Given the description of an element on the screen output the (x, y) to click on. 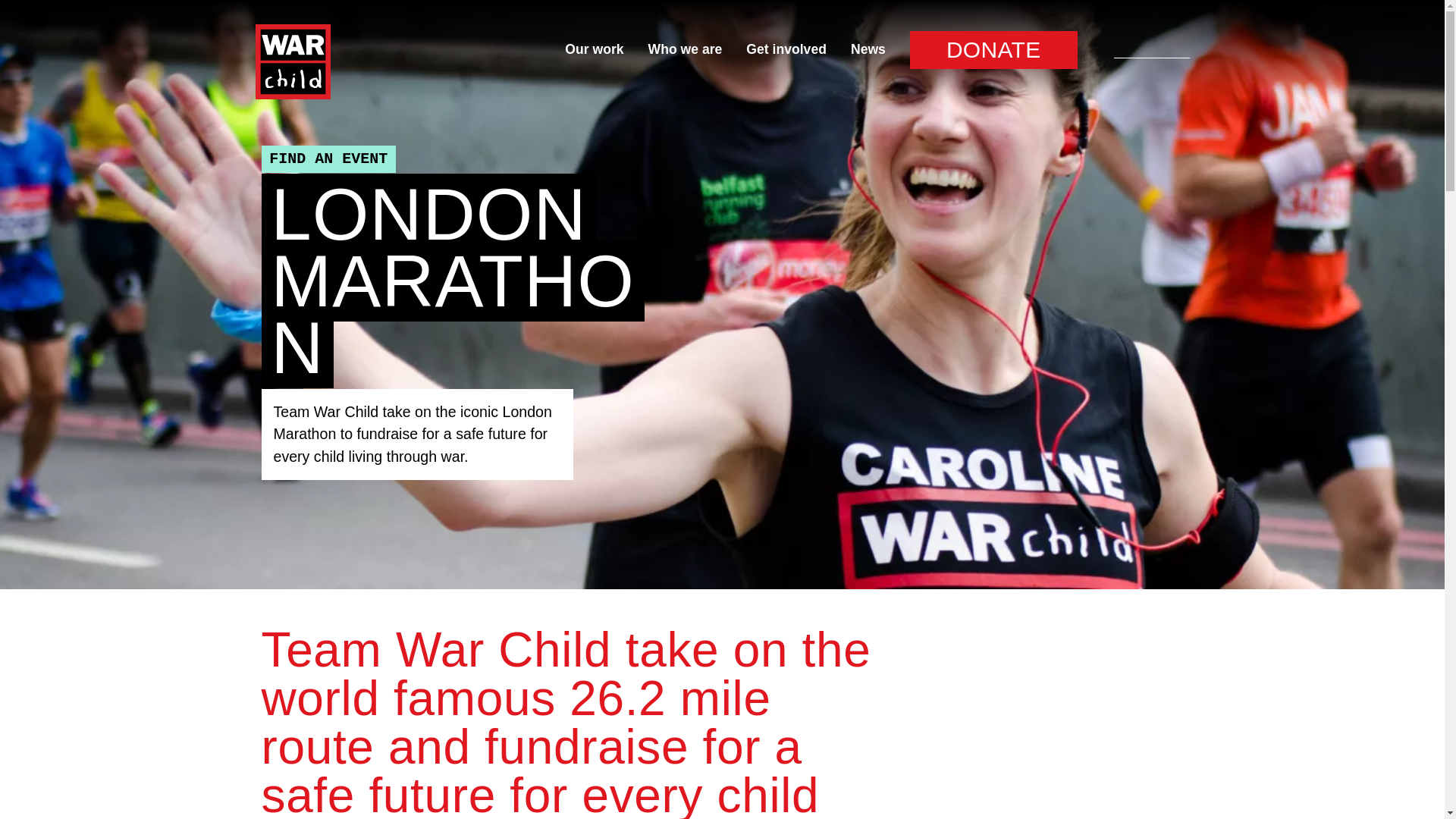
Search submit (1093, 49)
Who we are (684, 48)
War Child (292, 61)
Get involved (786, 48)
DONATE (993, 48)
Our work (593, 48)
News (867, 48)
